Given the description of an element on the screen output the (x, y) to click on. 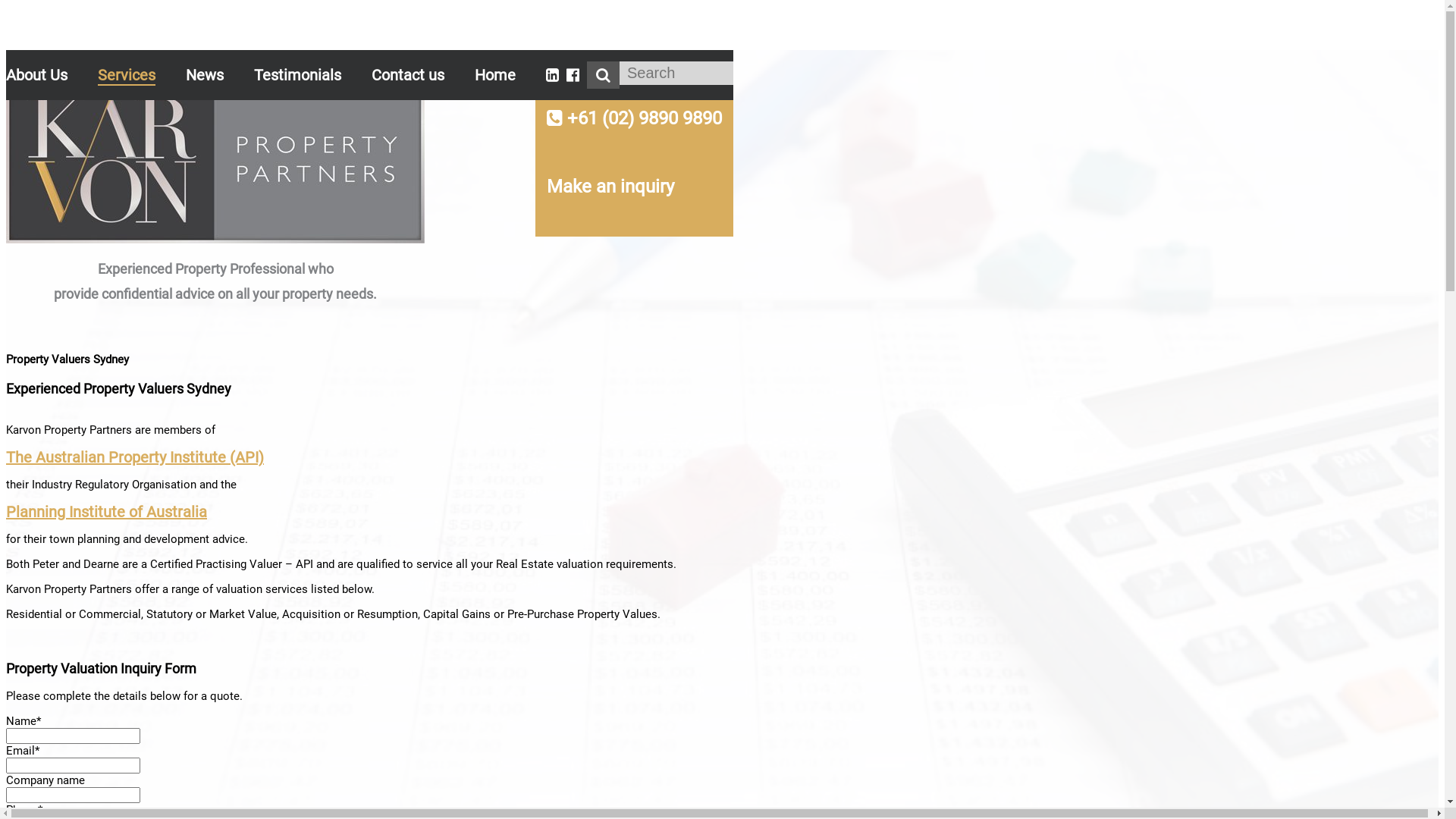
Home Element type: text (494, 74)
The Australian Property Institute (API) Element type: text (134, 457)
Make an inquiry Element type: text (634, 189)
About Us Element type: text (36, 74)
Testimonials Element type: text (297, 74)
Services Element type: text (126, 75)
Contact us Element type: text (407, 74)
News Element type: text (204, 74)
Karvon Element type: hover (215, 238)
Planning Institute of Australia Element type: text (106, 511)
+61 (02) 9890 9890 Element type: text (634, 120)
